Given the description of an element on the screen output the (x, y) to click on. 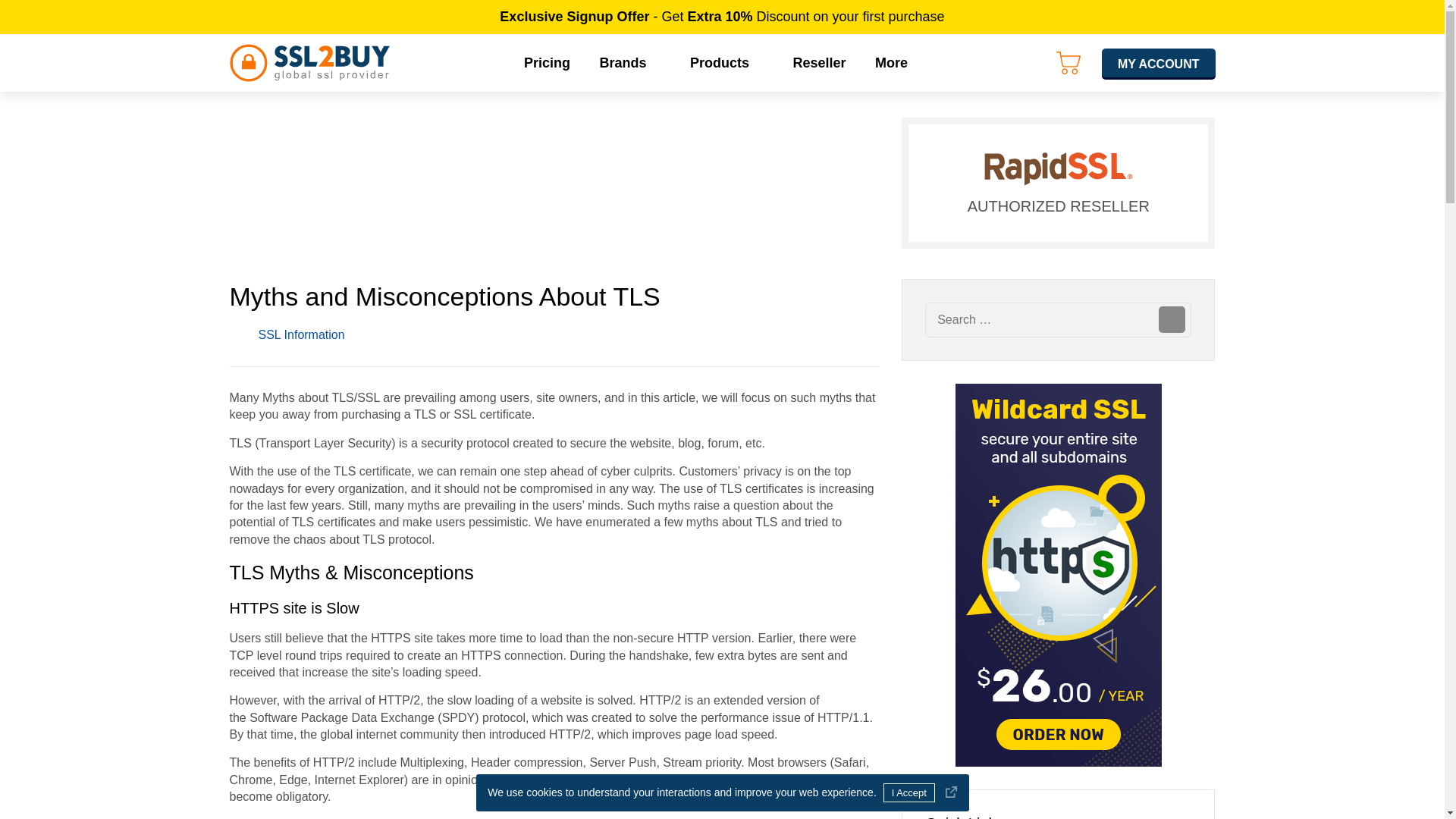
SSL2BUY (309, 62)
MY ACCOUNT (1158, 62)
Brands (630, 62)
Products (726, 62)
SUBMIT (1171, 319)
Pricing (547, 62)
More (897, 62)
SSL Information (300, 334)
Reseller (818, 62)
